Given the description of an element on the screen output the (x, y) to click on. 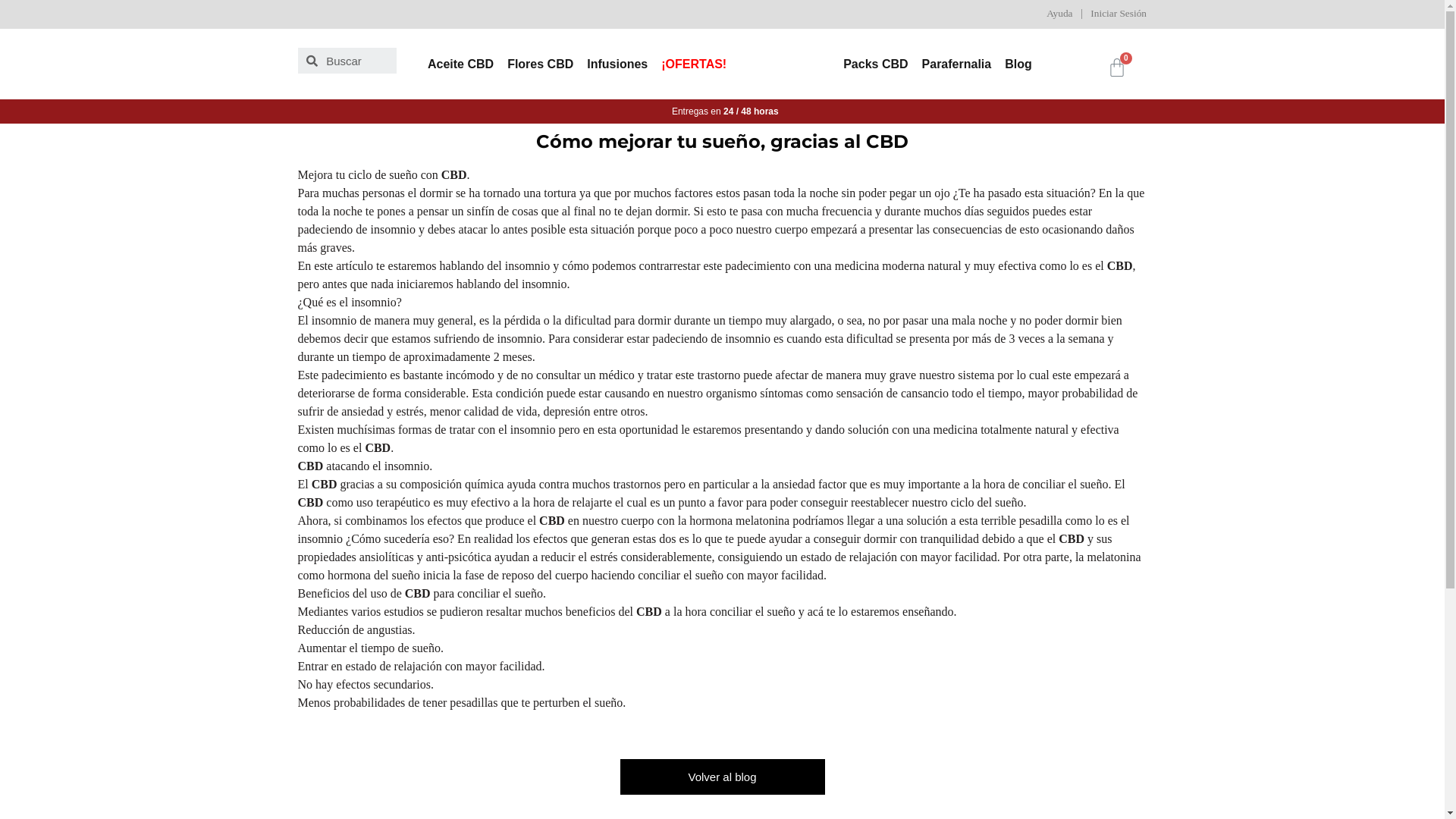
Volver al blog Element type: text (722, 776)
Blog Element type: text (1017, 64)
Aceite CBD Element type: text (460, 64)
Flores CBD Element type: text (540, 64)
Parafernalia Element type: text (956, 64)
Packs CBD Element type: text (875, 64)
Ayuda Element type: text (1059, 12)
Search Element type: hover (356, 60)
Infusiones Element type: text (617, 64)
